Given the description of an element on the screen output the (x, y) to click on. 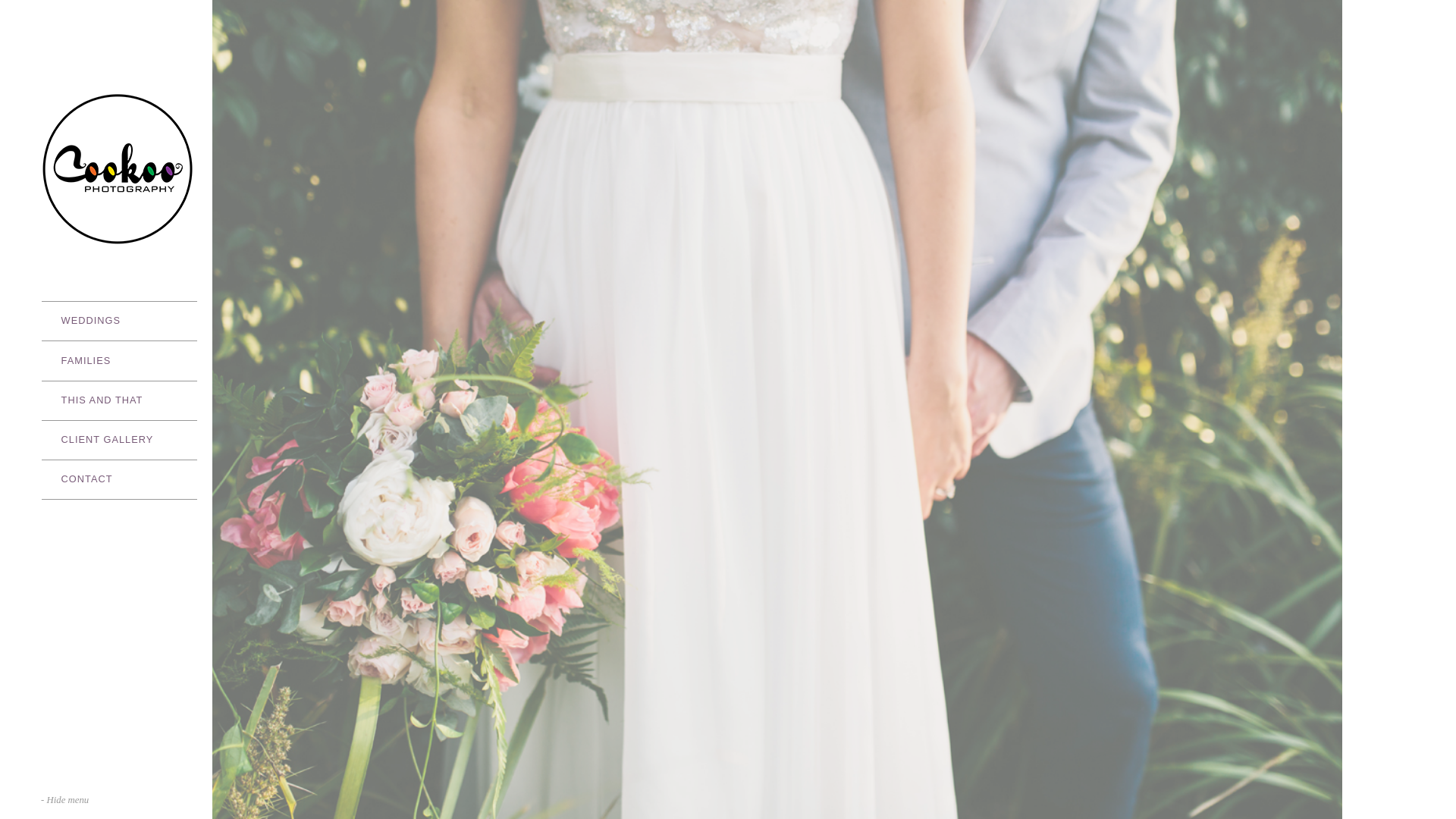
- Hide menu Element type: text (64, 800)
THIS AND THAT Element type: text (119, 400)
WEDDINGS Element type: text (119, 320)
CONTACT Element type: text (119, 478)
pregnancy test early detection Element type: text (64, 6)
FAMILIES Element type: text (119, 359)
